Given the description of an element on the screen output the (x, y) to click on. 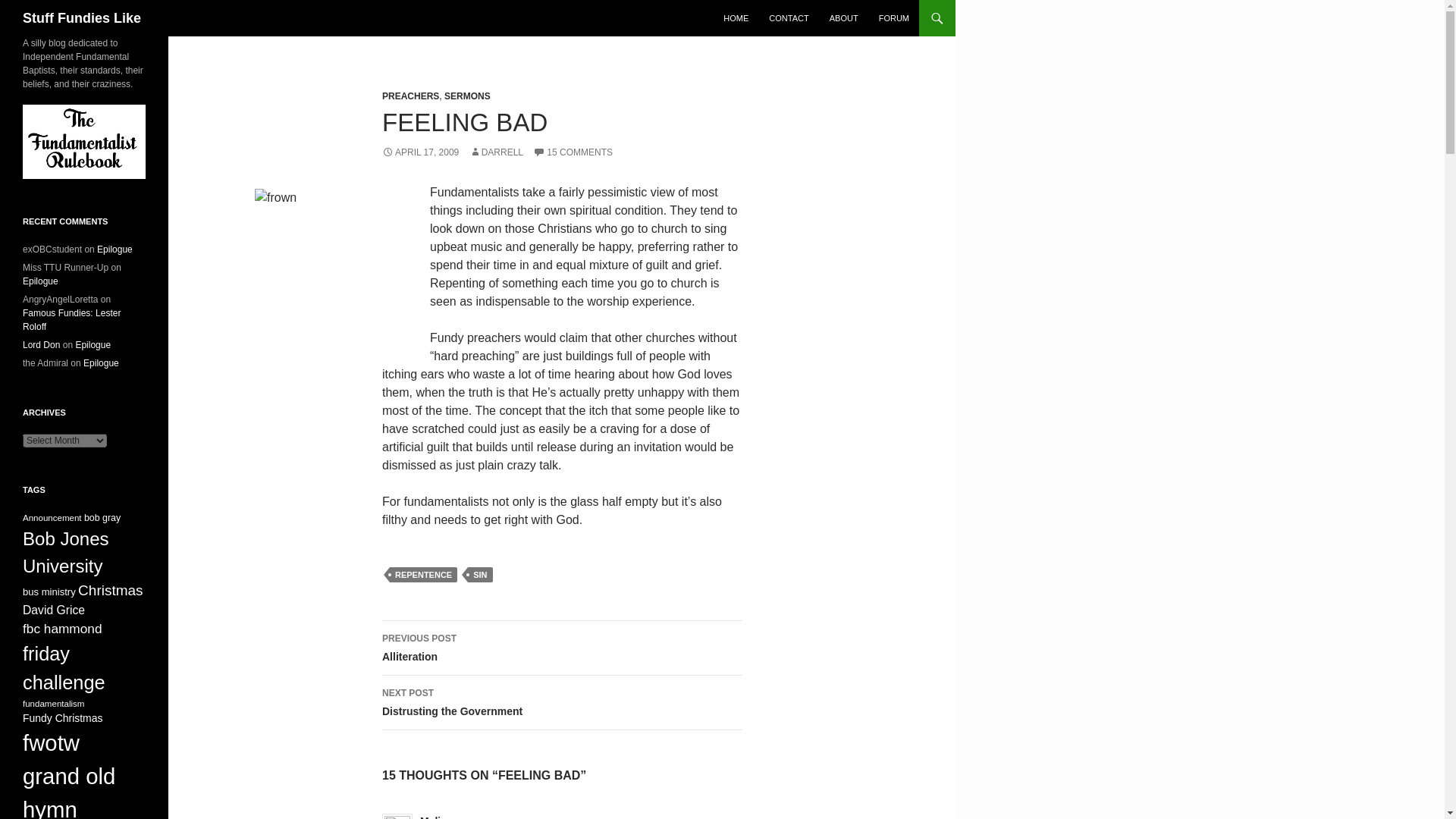
PREACHERS (410, 95)
Stuff Fundies Like (82, 18)
APRIL 17, 2009 (419, 152)
HOME (735, 18)
ABOUT (844, 18)
Melissa (439, 816)
REPENTENCE (561, 702)
DARRELL (561, 647)
